Given the description of an element on the screen output the (x, y) to click on. 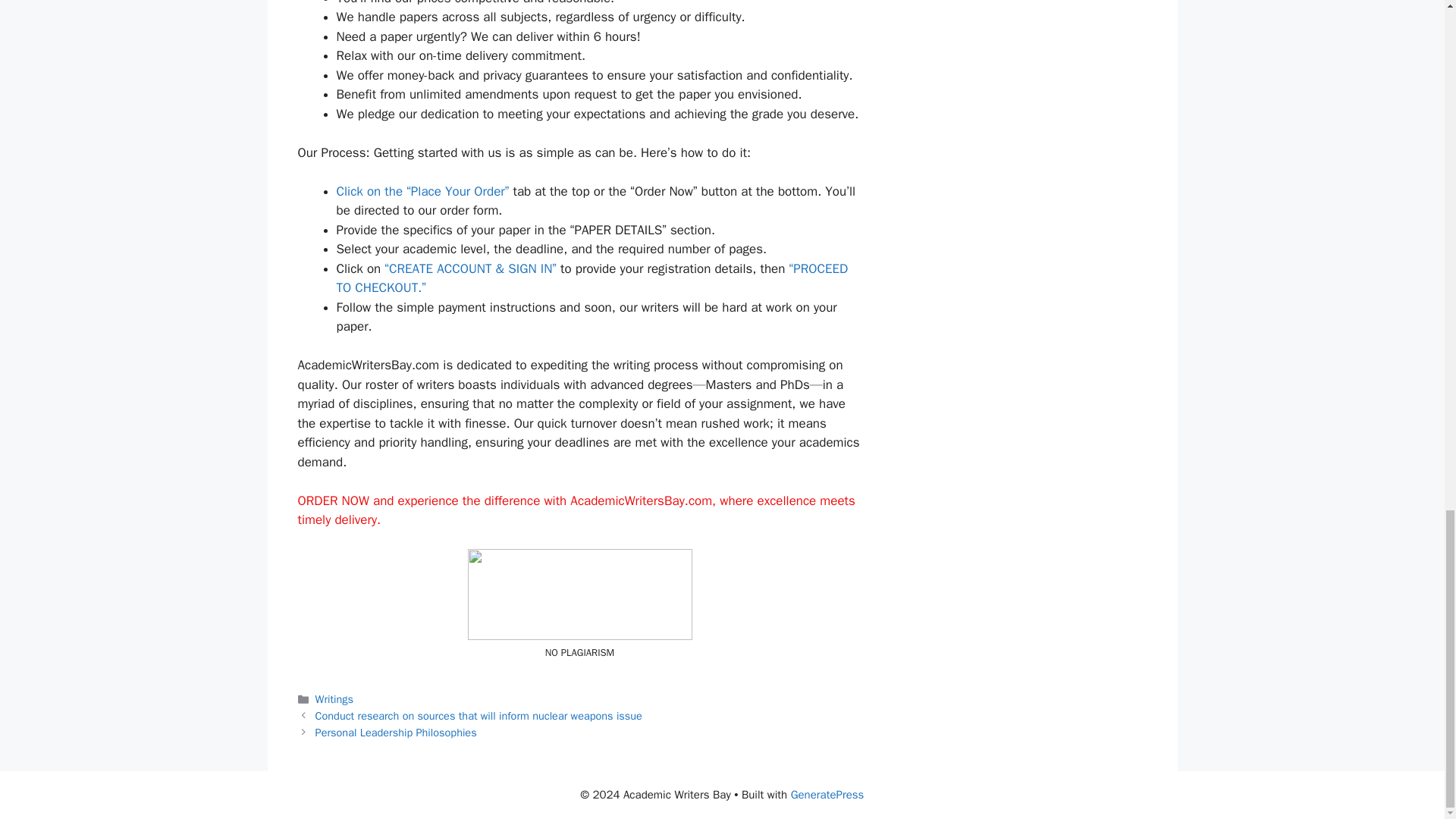
Writings (334, 698)
GeneratePress (827, 794)
Personal Leadership Philosophies (396, 732)
